Given the description of an element on the screen output the (x, y) to click on. 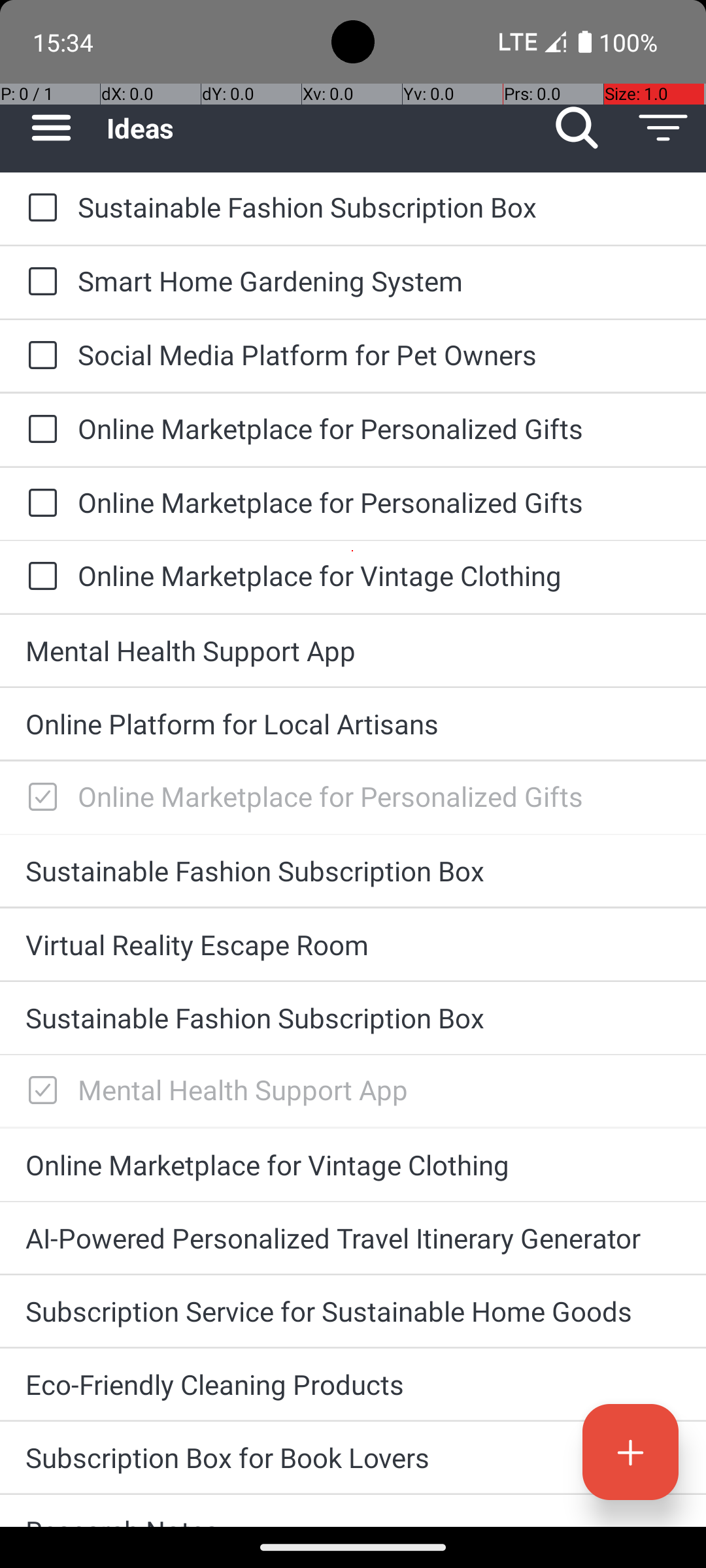
to-do: Sustainable Fashion Subscription Box Element type: android.widget.CheckBox (38, 208)
Sustainable Fashion Subscription Box Element type: android.widget.TextView (378, 206)
to-do: Smart Home Gardening System Element type: android.widget.CheckBox (38, 282)
Smart Home Gardening System Element type: android.widget.TextView (378, 280)
to-do: Social Media Platform for Pet Owners Element type: android.widget.CheckBox (38, 356)
Social Media Platform for Pet Owners Element type: android.widget.TextView (378, 354)
to-do: Online Marketplace for Personalized Gifts Element type: android.widget.CheckBox (38, 429)
Online Marketplace for Personalized Gifts Element type: android.widget.TextView (378, 427)
to-do: Online Marketplace for Vintage Clothing Element type: android.widget.CheckBox (38, 576)
Online Marketplace for Vintage Clothing Element type: android.widget.TextView (378, 574)
Mental Health Support App Element type: android.widget.TextView (352, 650)
Online Platform for Local Artisans Element type: android.widget.TextView (352, 723)
Virtual Reality Escape Room Element type: android.widget.TextView (352, 944)
to-do: Mental Health Support App Element type: android.widget.CheckBox (38, 1091)
AI-Powered Personalized Travel Itinerary Generator Element type: android.widget.TextView (352, 1237)
Subscription Service for Sustainable Home Goods Element type: android.widget.TextView (352, 1310)
Eco-Friendly Cleaning Products Element type: android.widget.TextView (352, 1383)
Subscription Box for Book Lovers Element type: android.widget.TextView (352, 1456)
Research Notes Element type: android.widget.TextView (352, 1518)
